Given the description of an element on the screen output the (x, y) to click on. 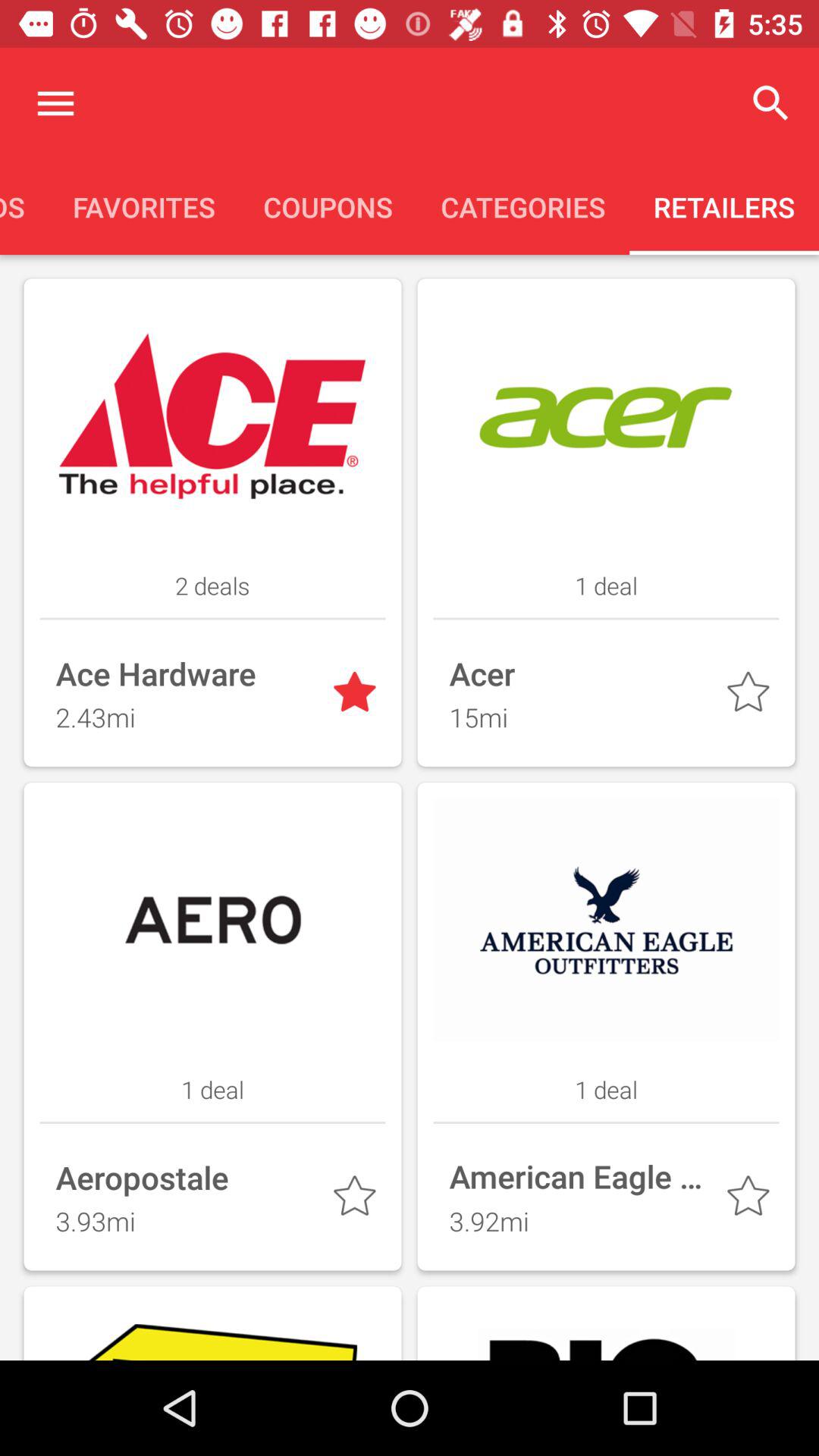
make item a favorite (751, 695)
